Given the description of an element on the screen output the (x, y) to click on. 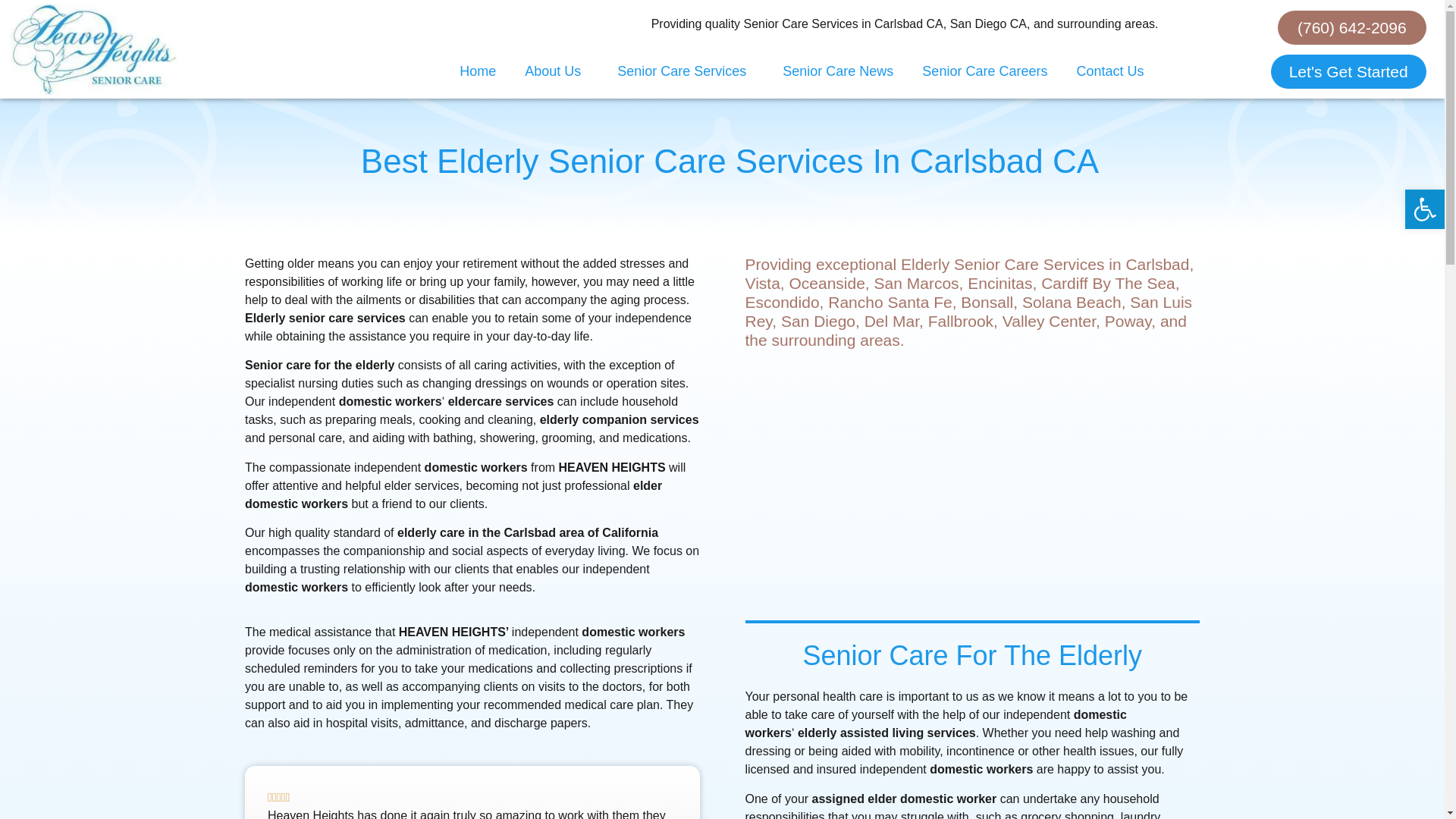
Senior Care Careers (984, 70)
Let's Get Started (1348, 71)
Contact Us (1109, 70)
Accessibility Tools (1424, 209)
Home (478, 70)
About Us (556, 70)
Senior Care Services (685, 70)
Senior Care News (837, 70)
